Given the description of an element on the screen output the (x, y) to click on. 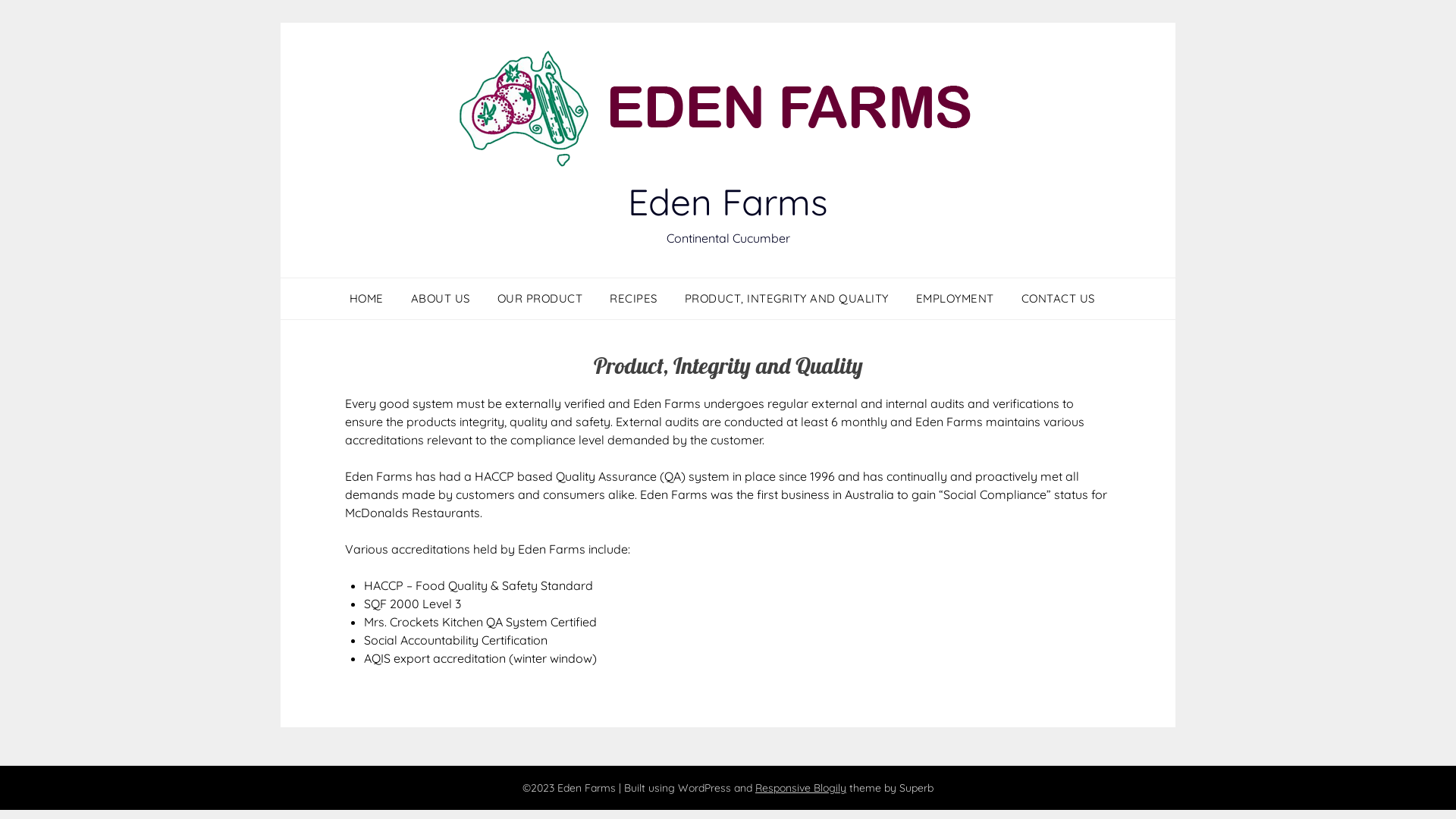
RECIPES Element type: text (633, 298)
PRODUCT, INTEGRITY AND QUALITY Element type: text (785, 298)
Eden Farms Element type: text (727, 201)
HOME Element type: text (371, 298)
OUR PRODUCT Element type: text (540, 298)
EMPLOYMENT Element type: text (954, 298)
ABOUT US Element type: text (440, 298)
CONTACT US Element type: text (1057, 298)
Responsive Blogily Element type: text (800, 787)
